Given the description of an element on the screen output the (x, y) to click on. 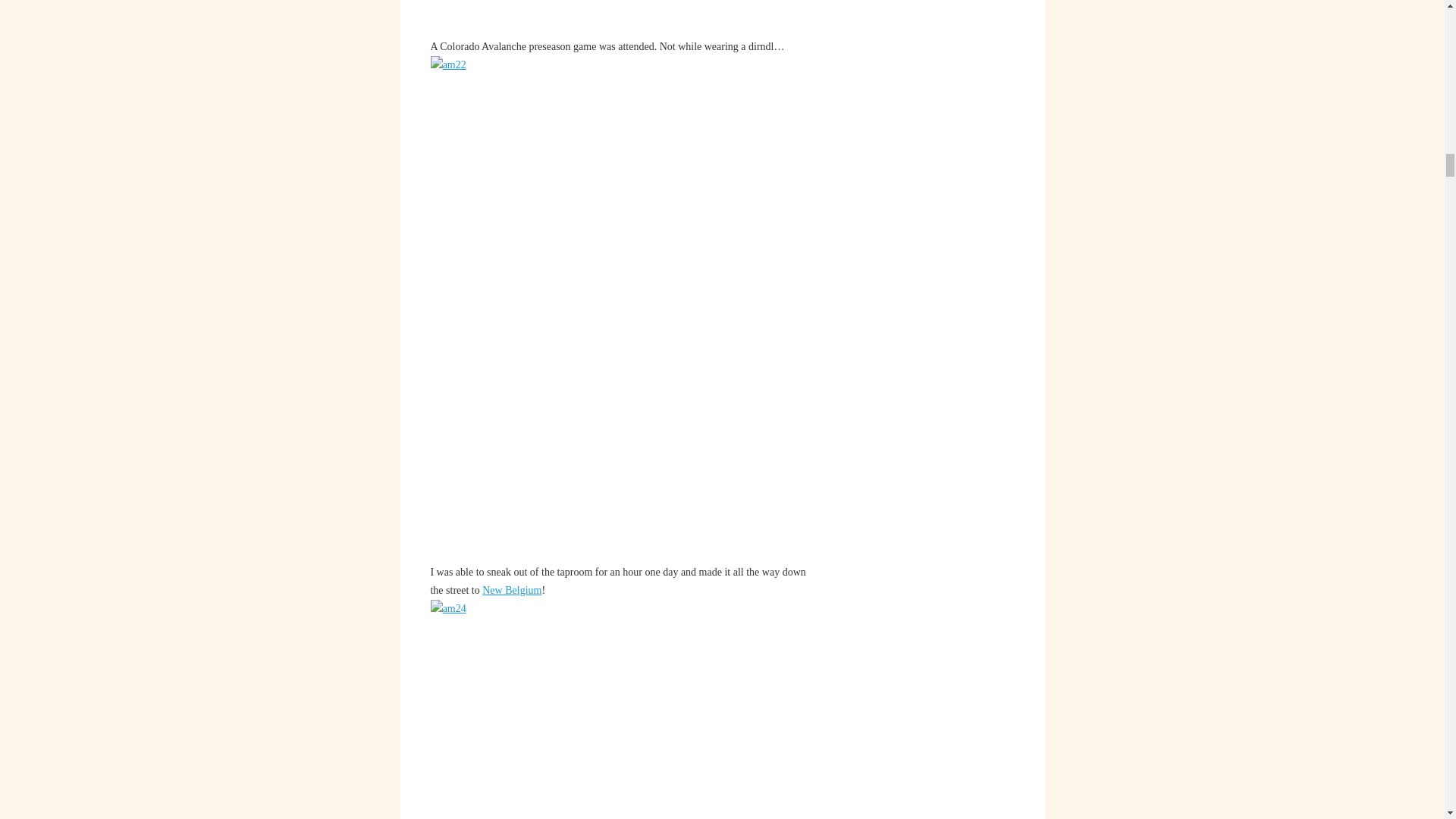
Christmas, Breweries and Beer (511, 590)
